Given the description of an element on the screen output the (x, y) to click on. 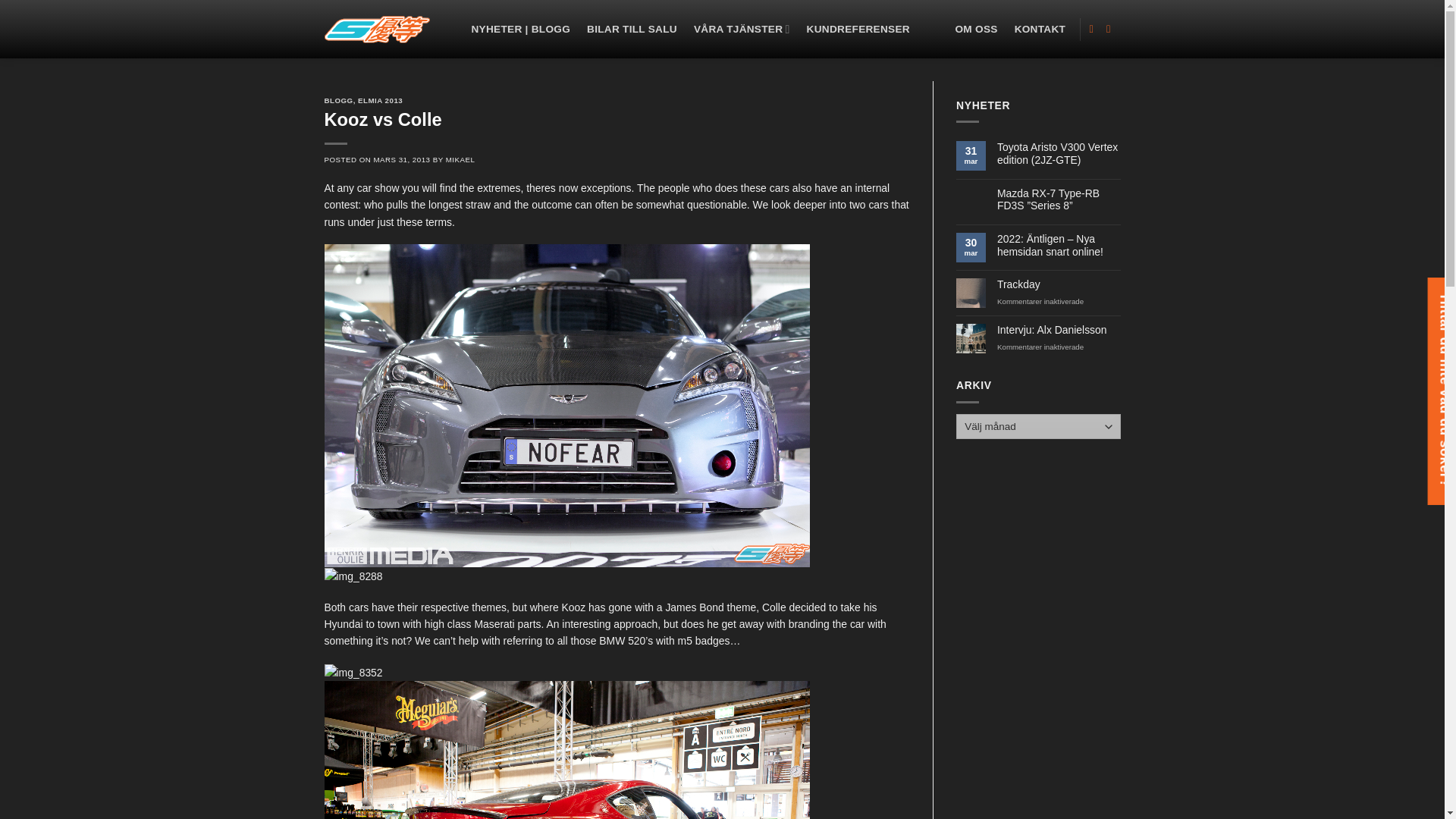
Intervju: Alx Danielsson (1059, 329)
ELMIA 2013 (380, 100)
MIKAEL (460, 159)
BILAR TILL SALU (631, 28)
Trackday (1059, 284)
BLOGG (338, 100)
KUNDREFERENSER (858, 28)
MARS 31, 2013 (400, 159)
OM OSS (976, 28)
KONTAKT (1039, 28)
Intervju: Alx Danielsson (1059, 329)
Trackday (1059, 284)
